Given the description of an element on the screen output the (x, y) to click on. 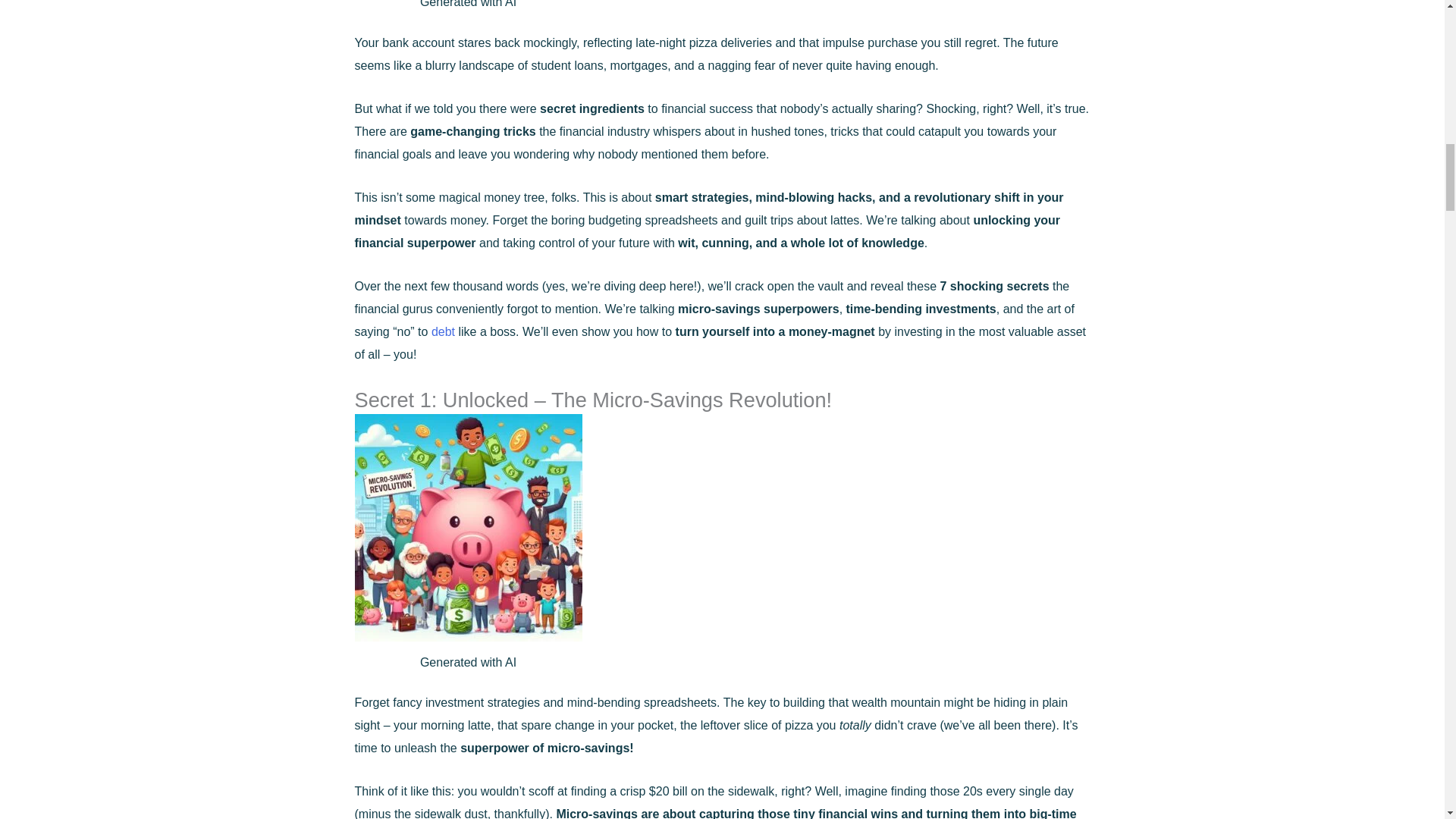
debt (442, 331)
Finance Journey: 7 Shocking Tricks They Don't Tell You 2 (468, 527)
